Given the description of an element on the screen output the (x, y) to click on. 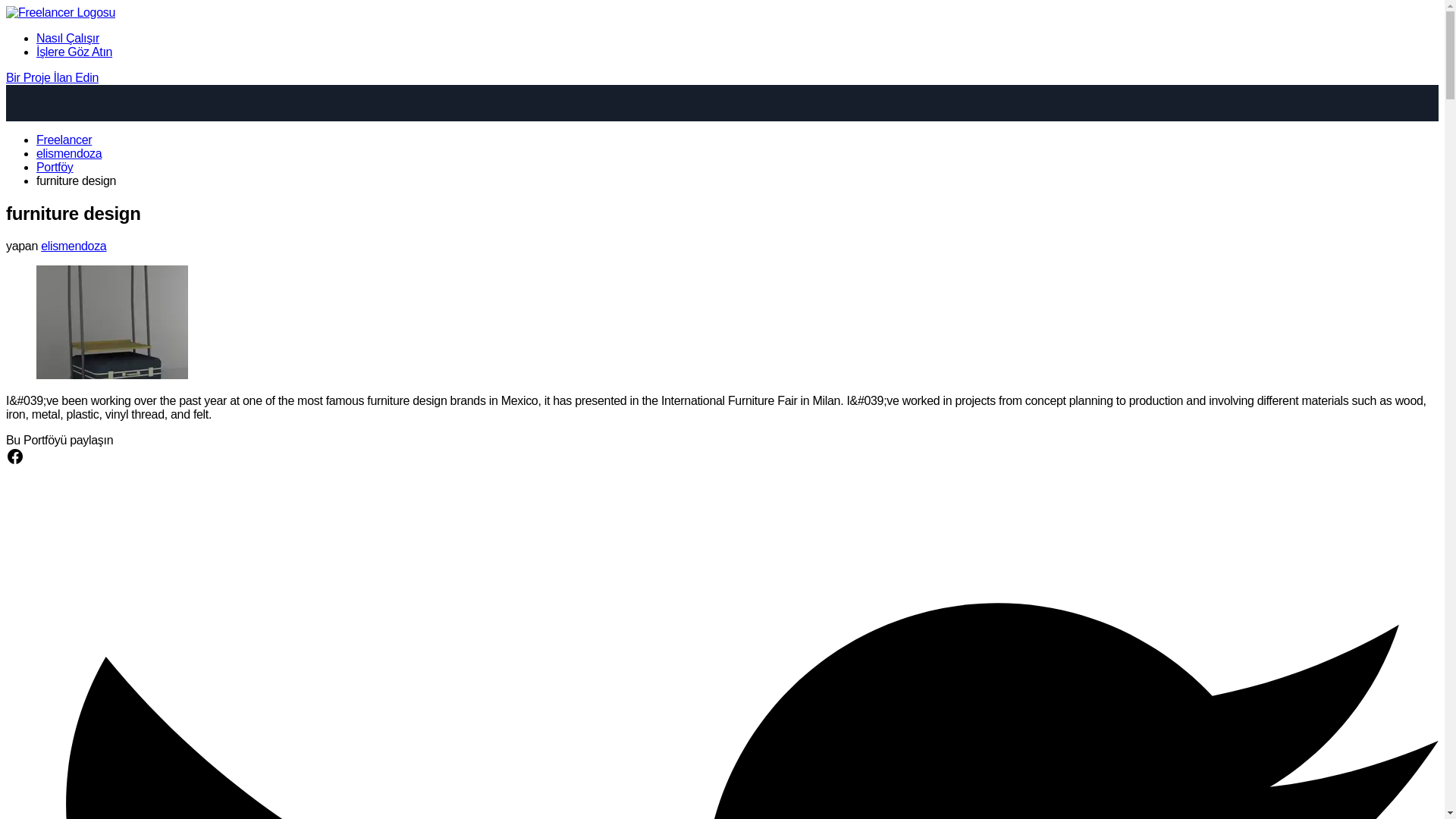
elismendoza (68, 153)
Freelancer (63, 139)
elismendoza (73, 245)
